Given the description of an element on the screen output the (x, y) to click on. 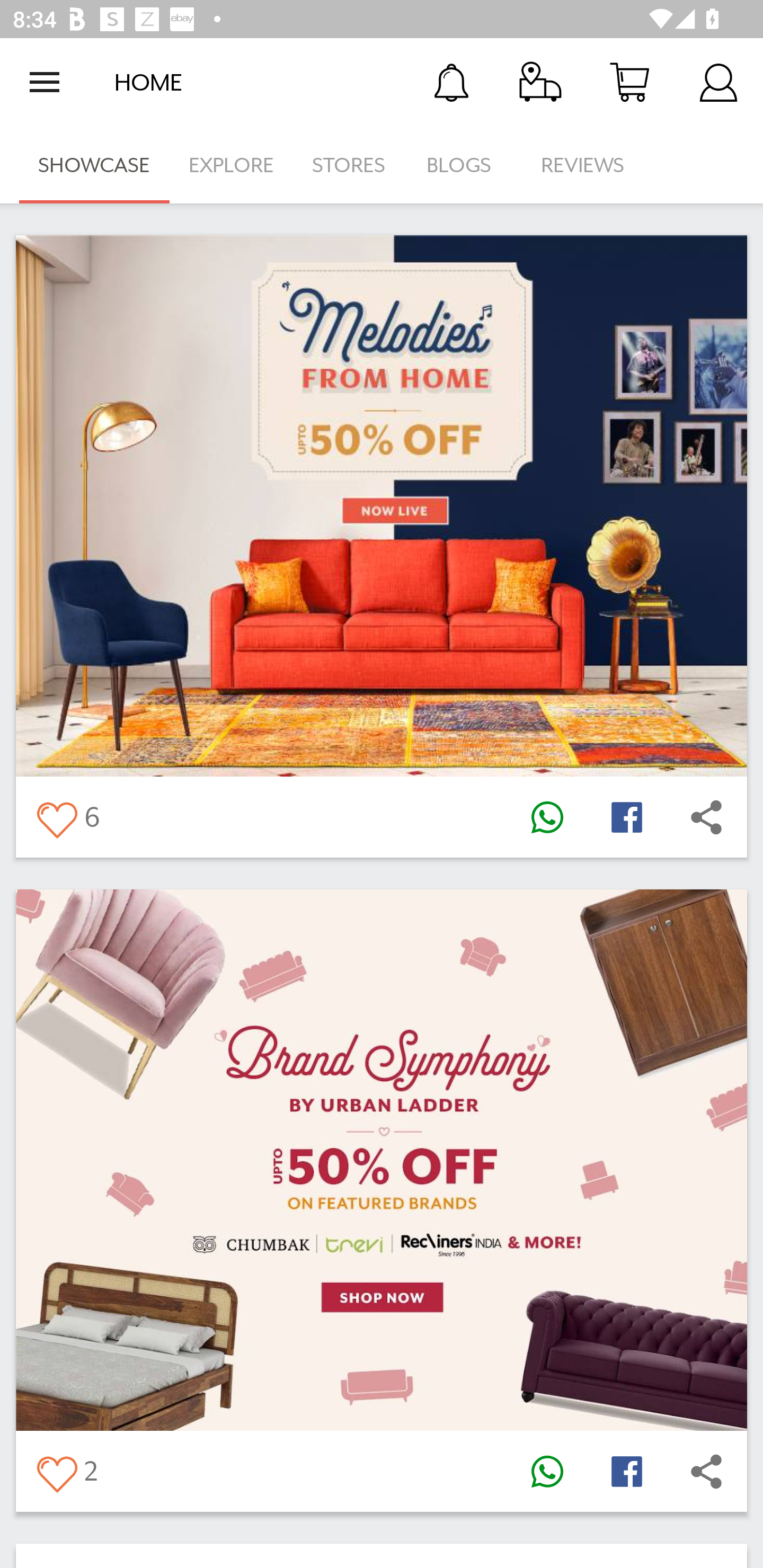
Open navigation drawer (44, 82)
Notification (450, 81)
Track Order (540, 81)
Cart (629, 81)
Account Details (718, 81)
SHOWCASE (94, 165)
EXPLORE (230, 165)
STORES (349, 165)
BLOGS (464, 165)
REVIEWS (582, 165)
 (55, 816)
 (547, 816)
 (626, 816)
 (706, 816)
 (55, 1471)
 (547, 1471)
 (626, 1471)
 (706, 1471)
